Given the description of an element on the screen output the (x, y) to click on. 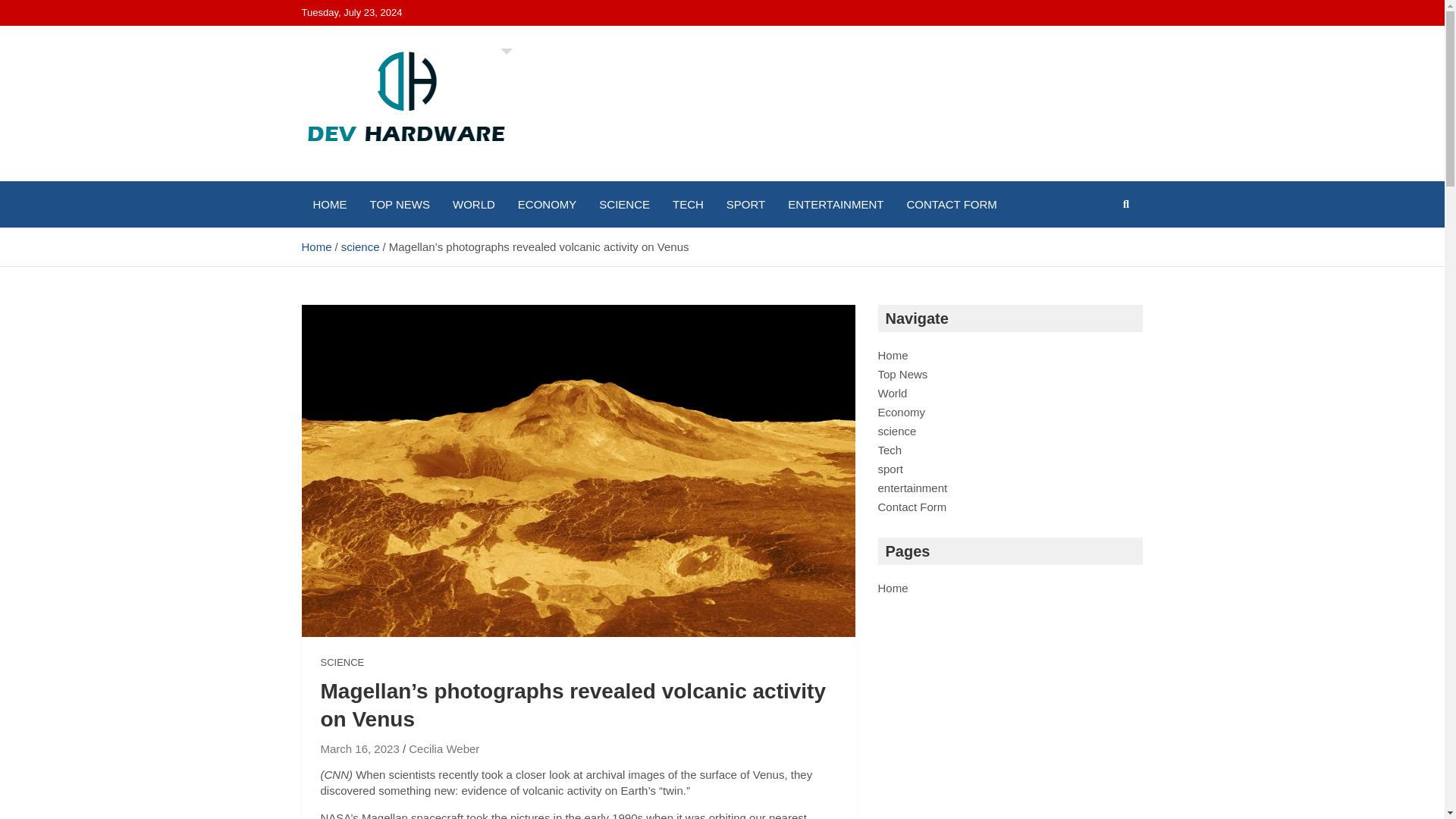
HOME (329, 203)
entertainment (912, 487)
Home (316, 246)
World (892, 392)
Cecilia Weber (444, 748)
Home (892, 587)
Contact Form (912, 506)
SCIENCE (342, 662)
Tech (889, 449)
Top News (902, 373)
WORLD (473, 203)
CONTACT FORM (951, 203)
SPORT (745, 203)
Economy (901, 411)
Dev Hardware (402, 177)
